Given the description of an element on the screen output the (x, y) to click on. 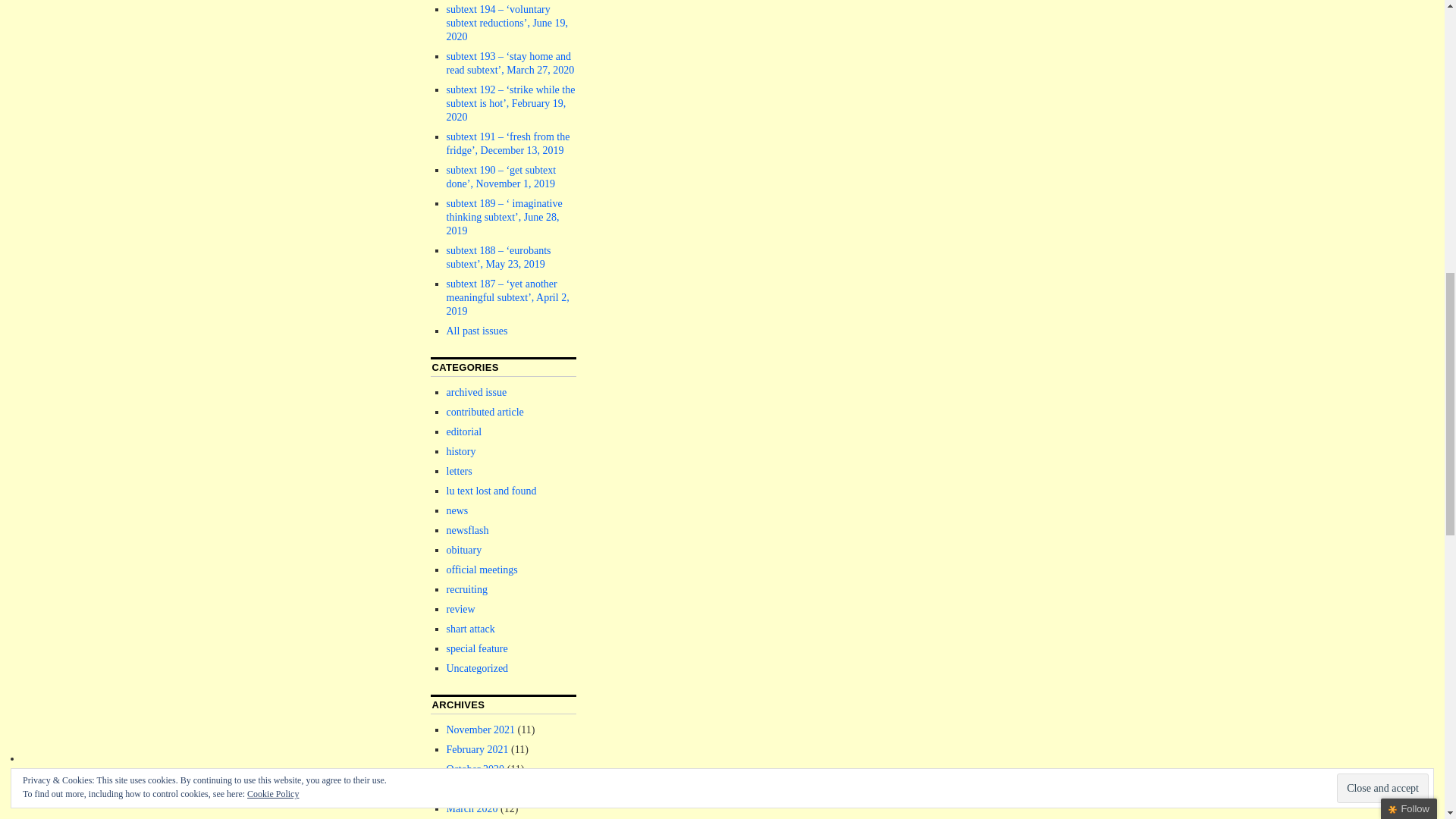
Sign me up! (1349, 136)
All past issues (475, 330)
Enter email address (1348, 107)
